Given the description of an element on the screen output the (x, y) to click on. 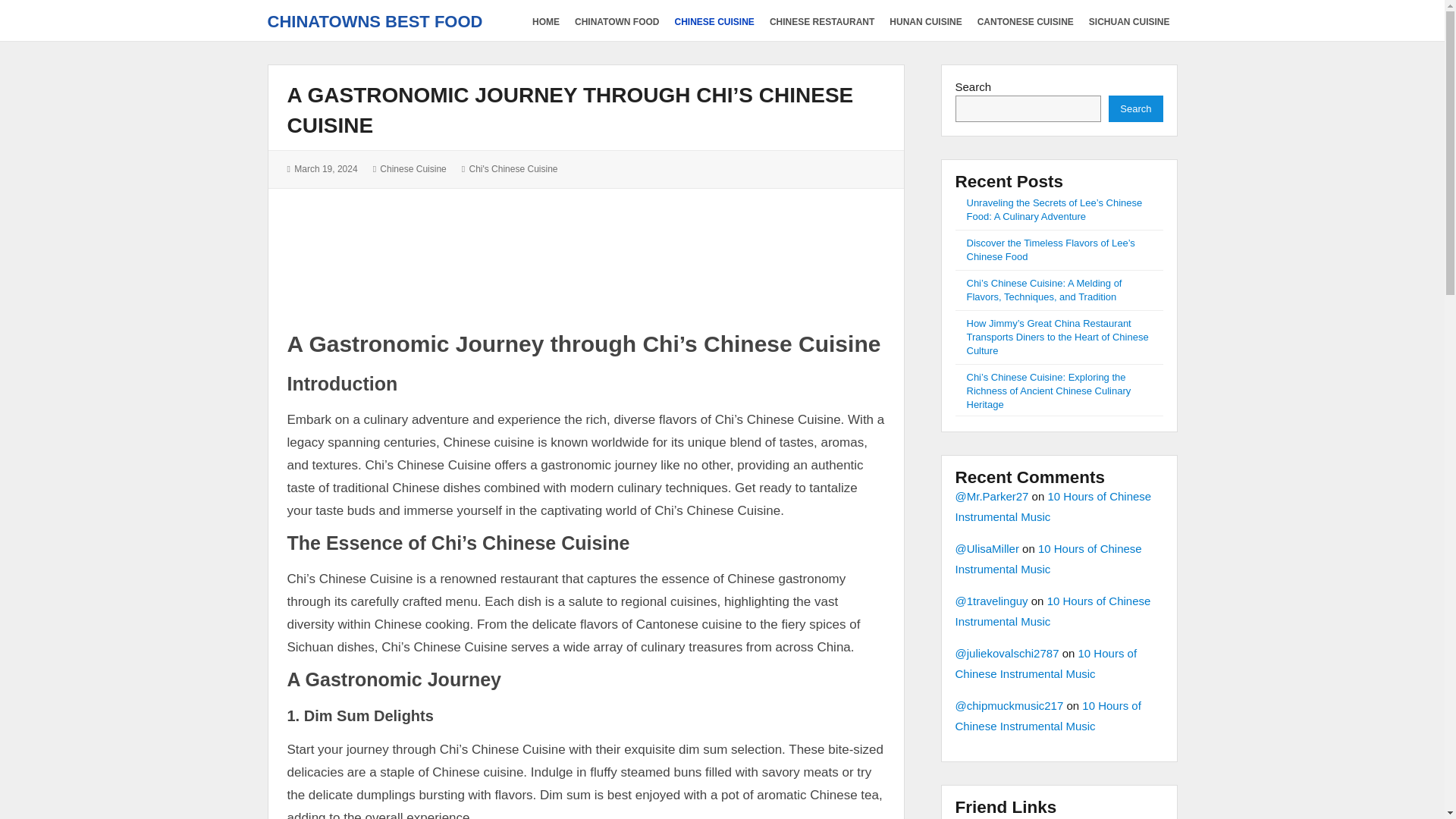
CHINATOWN FOOD (617, 19)
Chi'S Chinese Cuisine (512, 168)
SICHUAN CUISINE (1129, 19)
HOME (545, 19)
HUNAN CUISINE (924, 19)
CHINATOWNS BEST FOOD (373, 21)
Chinese Cuisine (412, 168)
10 Hours of Chinese Instrumental Music (1046, 663)
March 19, 2024 (325, 168)
CHINESE RESTAURANT (822, 19)
